Given the description of an element on the screen output the (x, y) to click on. 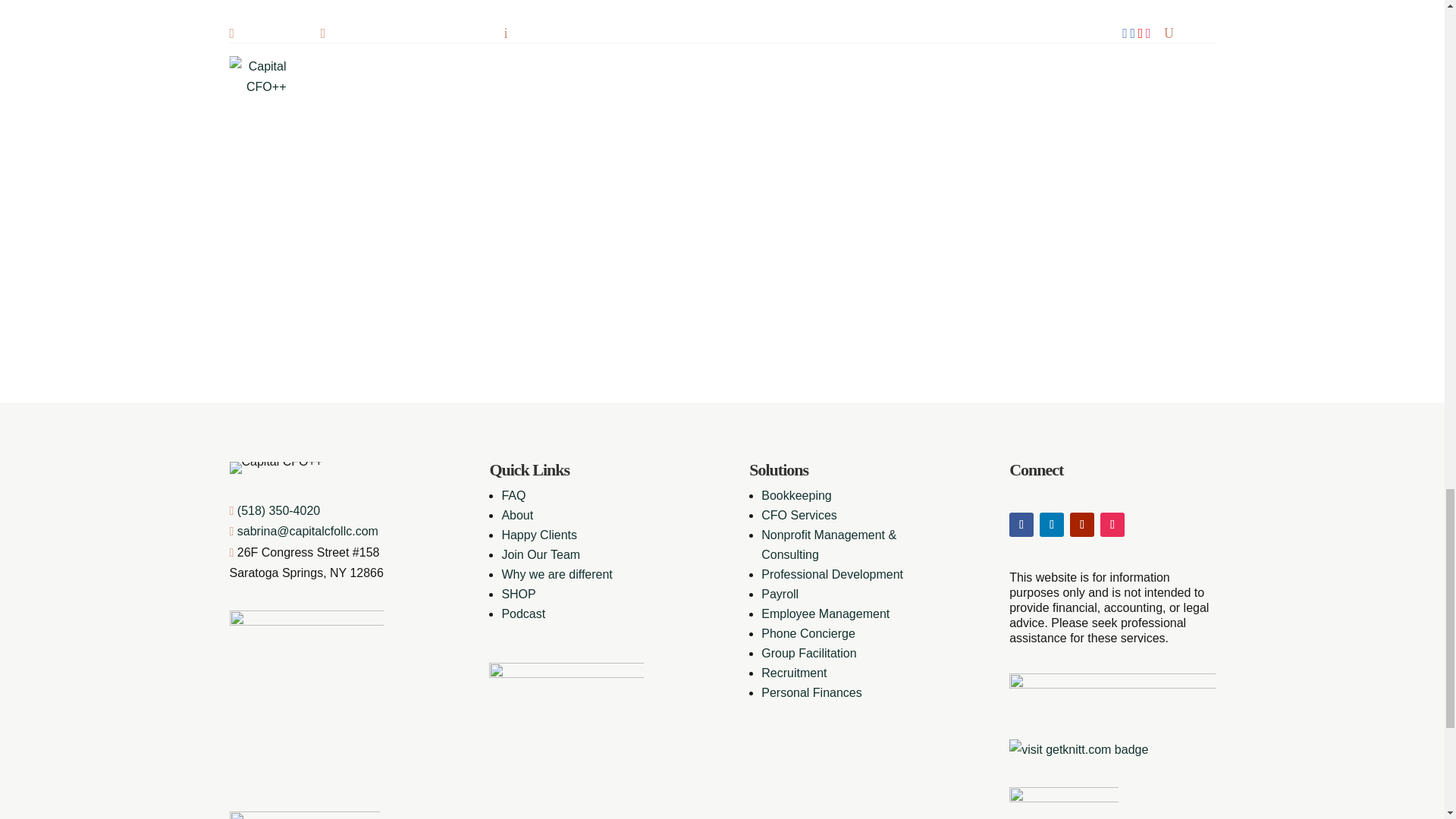
WBElogo (1111, 692)
Follow on Youtube (1082, 524)
Follow on LinkedIn (1051, 524)
Follow on Facebook (1021, 524)
Follow on Instagram (1112, 524)
638569214556414939 (303, 815)
shrm-certified-professional-shrm-cp (1063, 803)
